Given the description of an element on the screen output the (x, y) to click on. 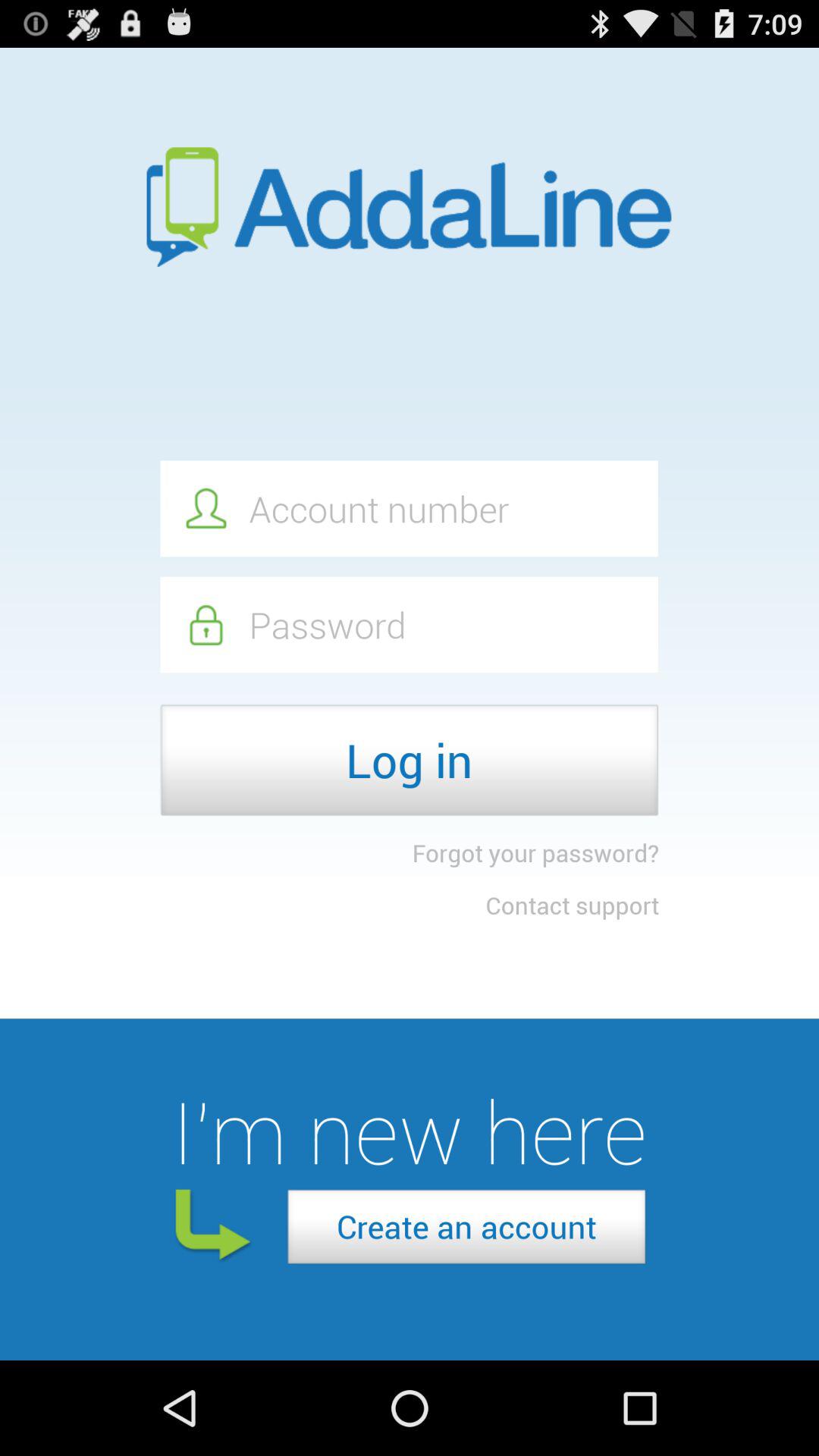
open the icon above forgot your password? item (409, 759)
